Given the description of an element on the screen output the (x, y) to click on. 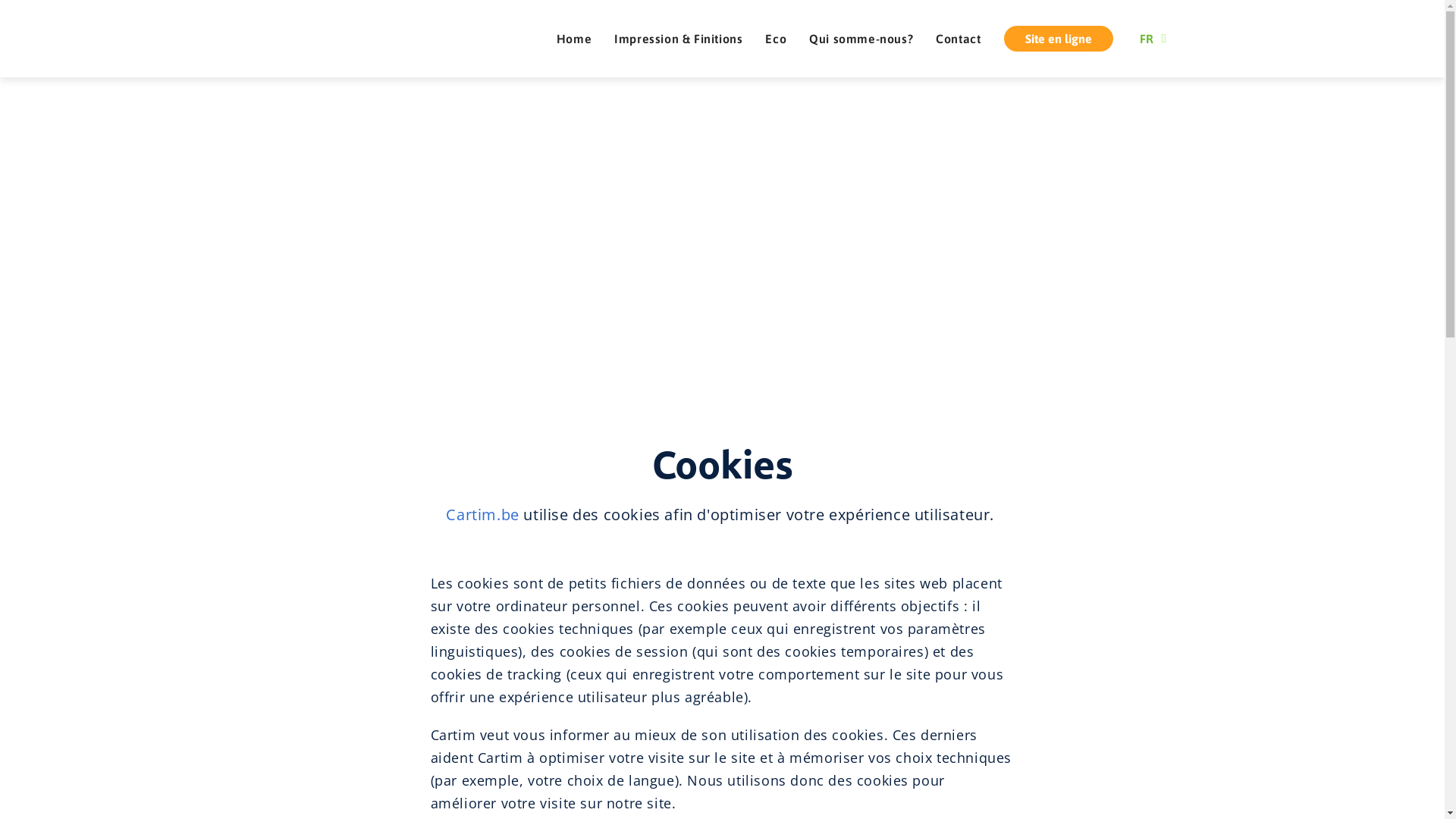
Cartim Element type: text (363, 38)
Cartim.be Element type: text (481, 514)
Eco Element type: text (775, 38)
Impression & Finitions Element type: text (678, 38)
Home Element type: text (573, 38)
Site en ligne Element type: text (1058, 38)
Contact Element type: text (957, 38)
Qui somme-nous? Element type: text (861, 38)
